Given the description of an element on the screen output the (x, y) to click on. 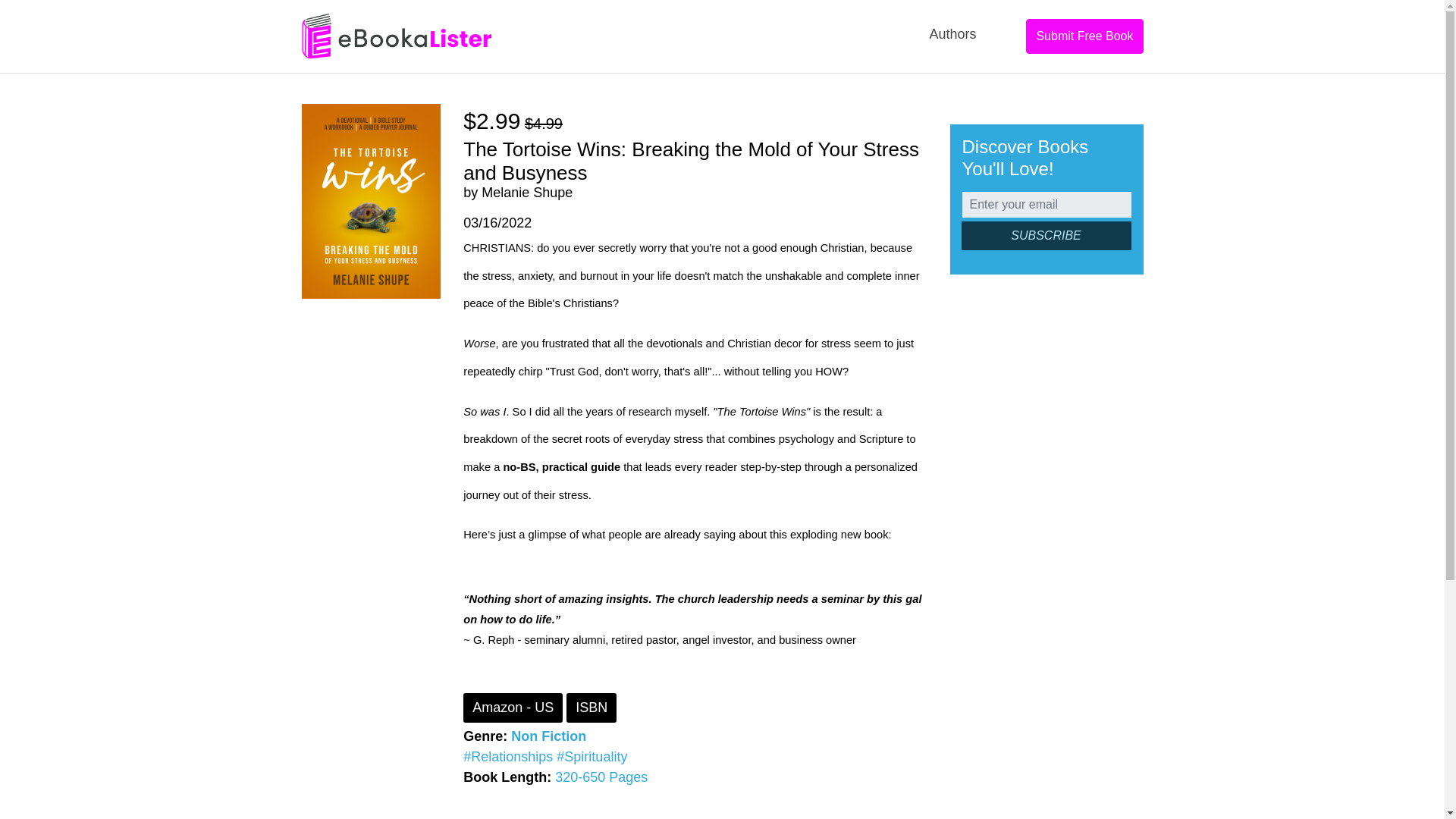
320-650 Pages (600, 776)
Amazon - US (512, 707)
Authors (952, 34)
Subscribe (1045, 235)
Non Fiction (548, 735)
Subscribe (1045, 235)
ISBN (590, 707)
Submit Free Book (1084, 36)
